Given the description of an element on the screen output the (x, y) to click on. 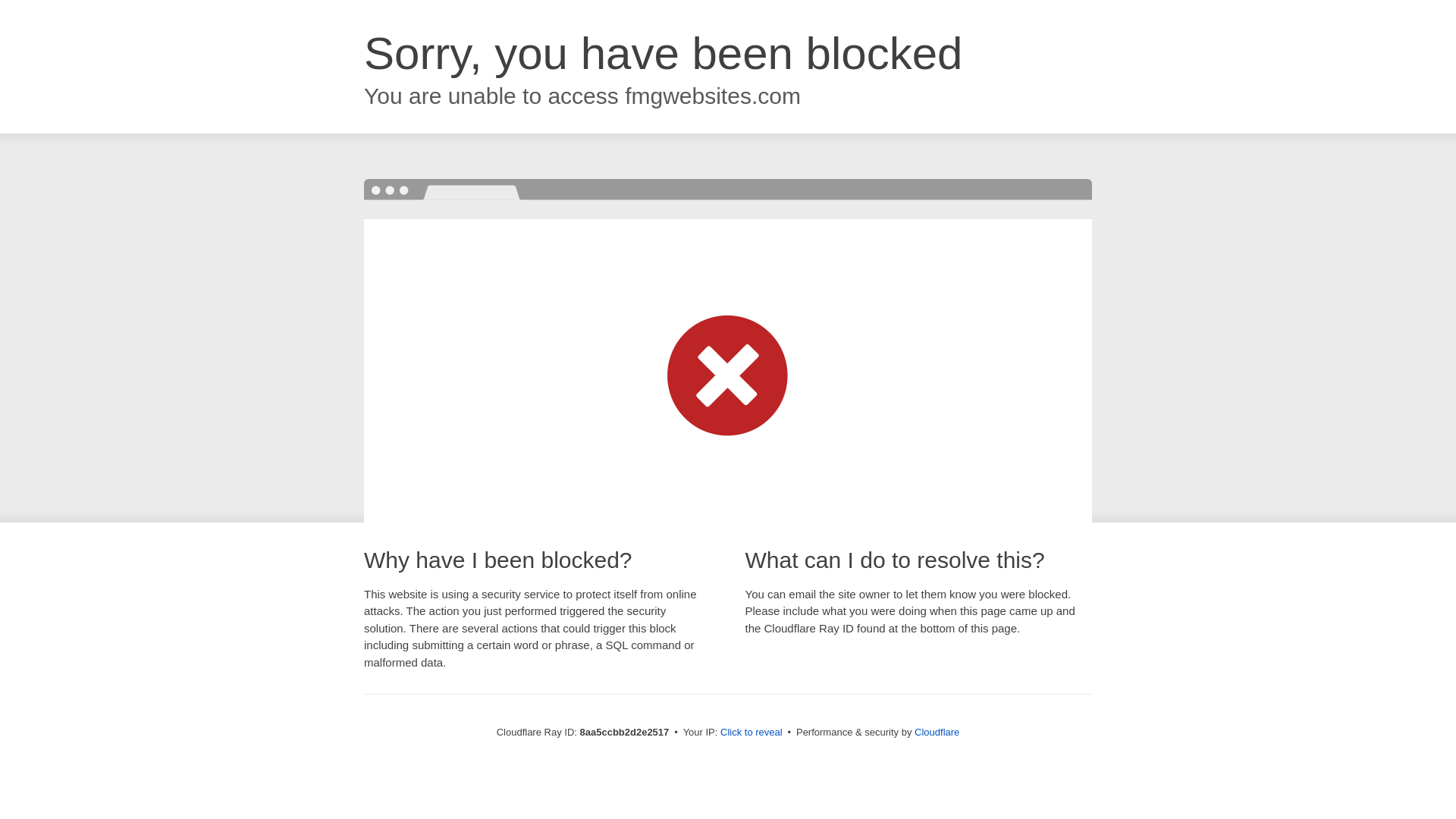
Cloudflare (936, 731)
Click to reveal (751, 732)
